Given the description of an element on the screen output the (x, y) to click on. 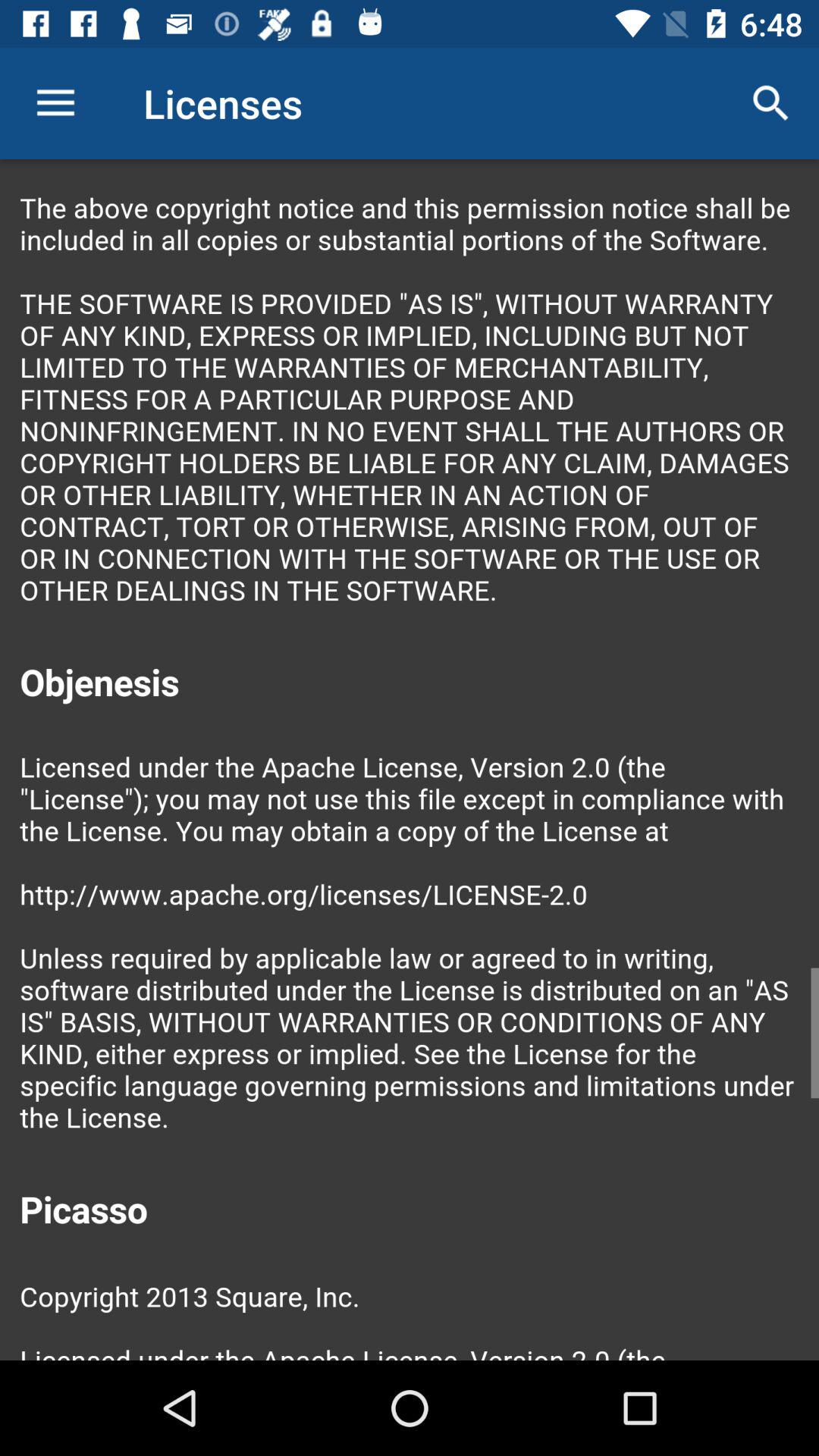
color print page (409, 759)
